Given the description of an element on the screen output the (x, y) to click on. 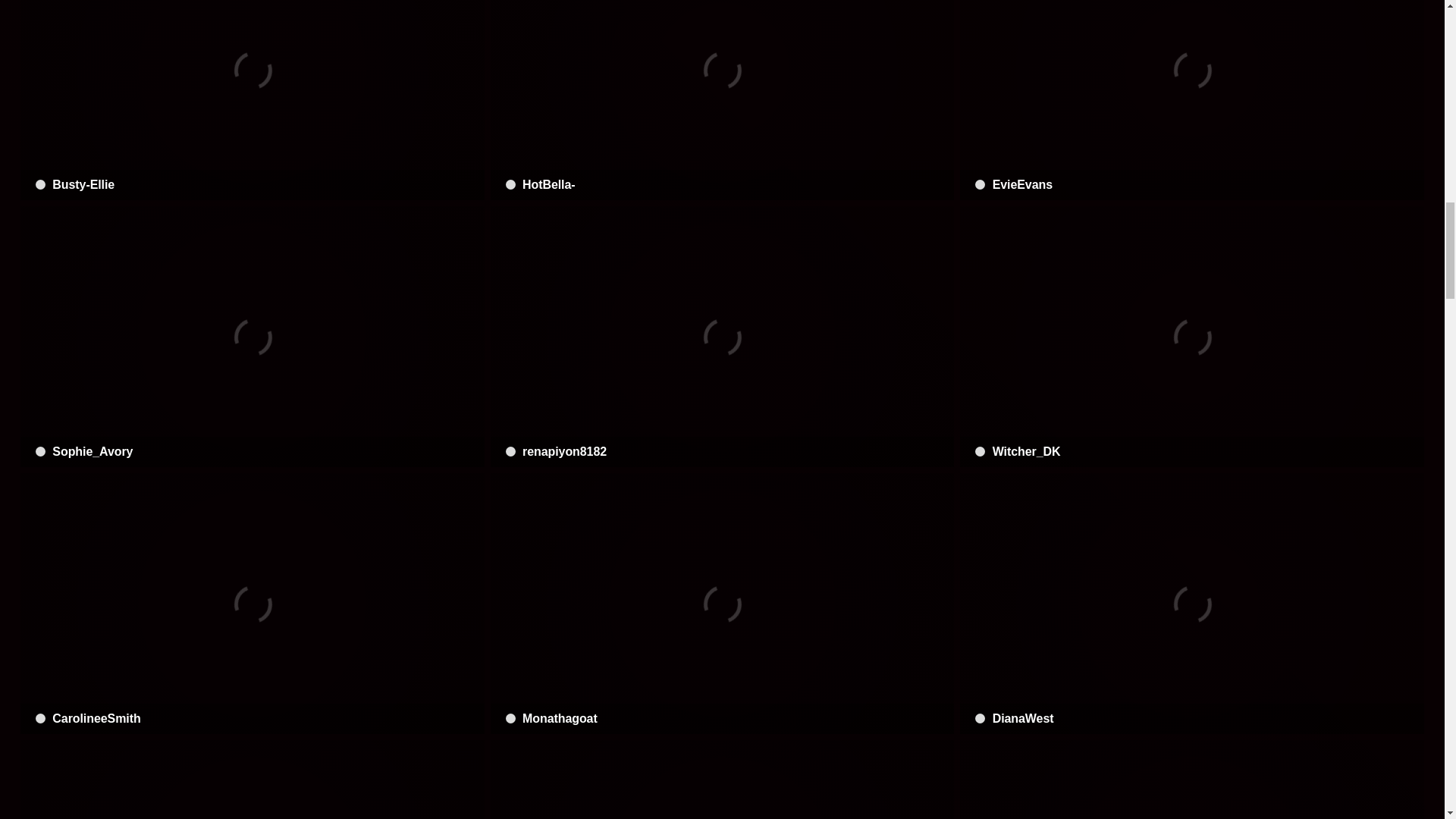
MelaniFoz (252, 779)
Monathagoat (722, 603)
EvieEvans (1191, 99)
HotBella- (722, 99)
Busty-Ellie (252, 99)
CarolineeSmith (252, 603)
DianaWest (1191, 603)
PandoraNash (722, 779)
AyanaBerry (1191, 779)
renapiyon8182 (722, 336)
